Given the description of an element on the screen output the (x, y) to click on. 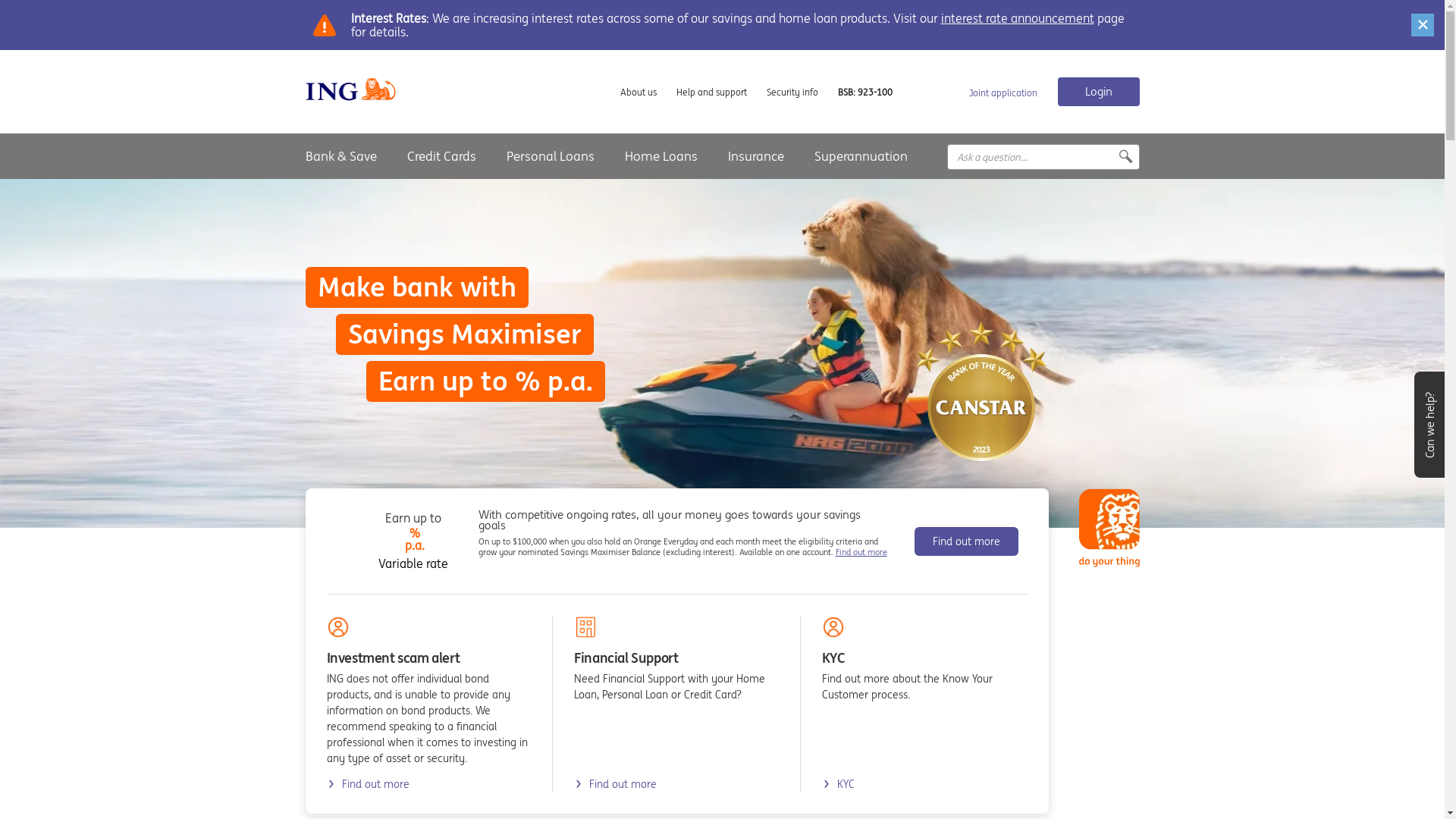
KYC Element type: text (838, 783)
Insurance Element type: text (755, 155)
Find out more Element type: text (615, 783)
Help and support Element type: text (711, 91)
Find out more Element type: text (367, 783)
About us Element type: text (638, 91)
Find out more Element type: text (861, 551)
Security info Element type: text (791, 91)
Find out more Element type: text (966, 540)
ING Element type: hover (349, 88)
Personal Loans Element type: text (550, 155)
Share this Element type: hover (1113, 156)
Can we help? Element type: text (1429, 424)
Home Loans Element type: text (660, 155)
Superannuation Element type: text (860, 155)
Credit Cards Element type: text (440, 155)
Bank & Save Element type: text (340, 155)
interest rate announcement Element type: text (1016, 17)
Joint application Element type: text (1003, 92)
